Given the description of an element on the screen output the (x, y) to click on. 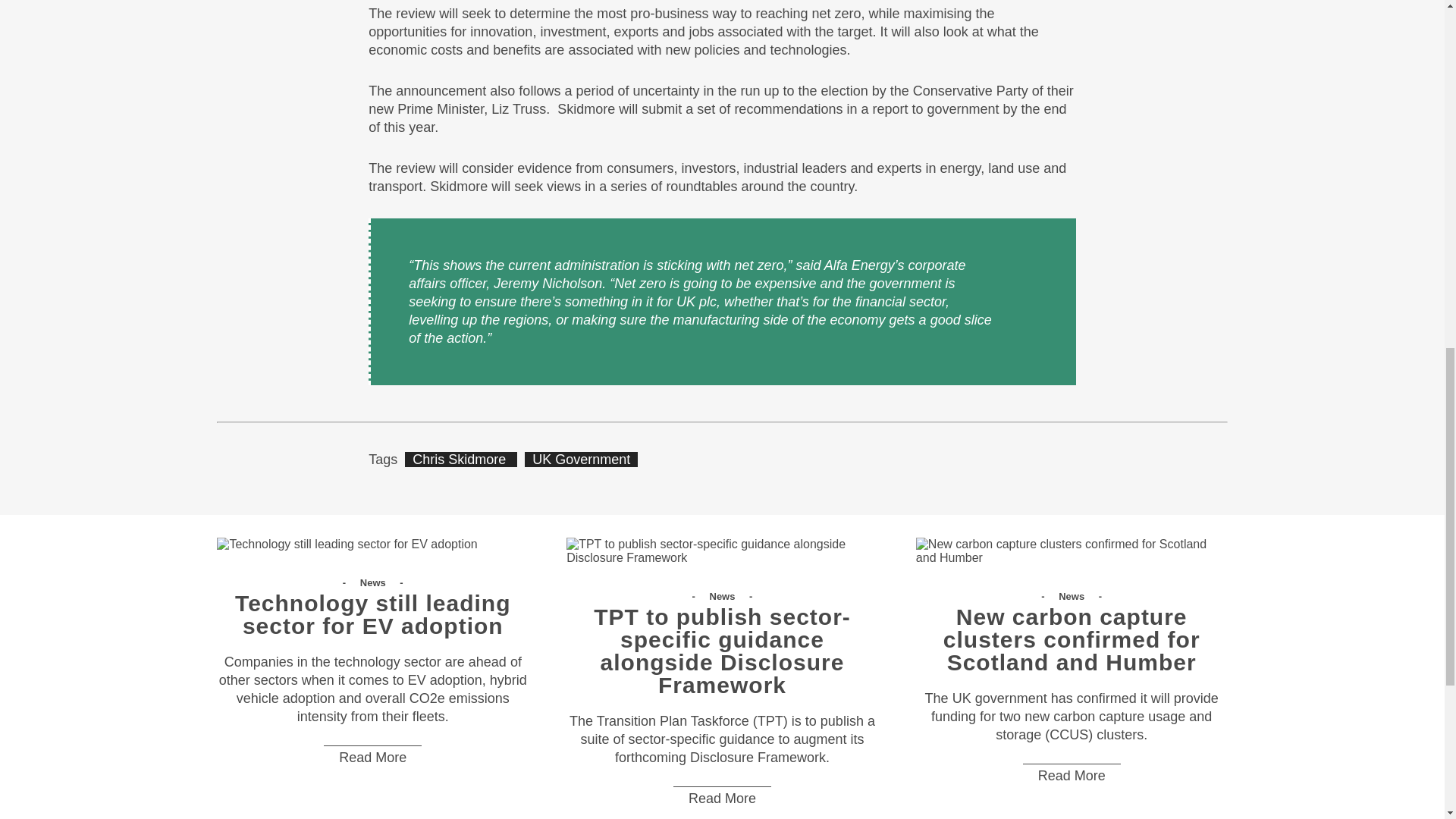
Read More (1072, 775)
Technology still leading sector for EV adoption (346, 544)
Technology still leading sector for EV adoption (372, 622)
Chris Skidmore (460, 459)
Read More (721, 797)
News (1072, 596)
Read More (372, 757)
News (374, 582)
News (723, 596)
UK Government (580, 459)
